Given the description of an element on the screen output the (x, y) to click on. 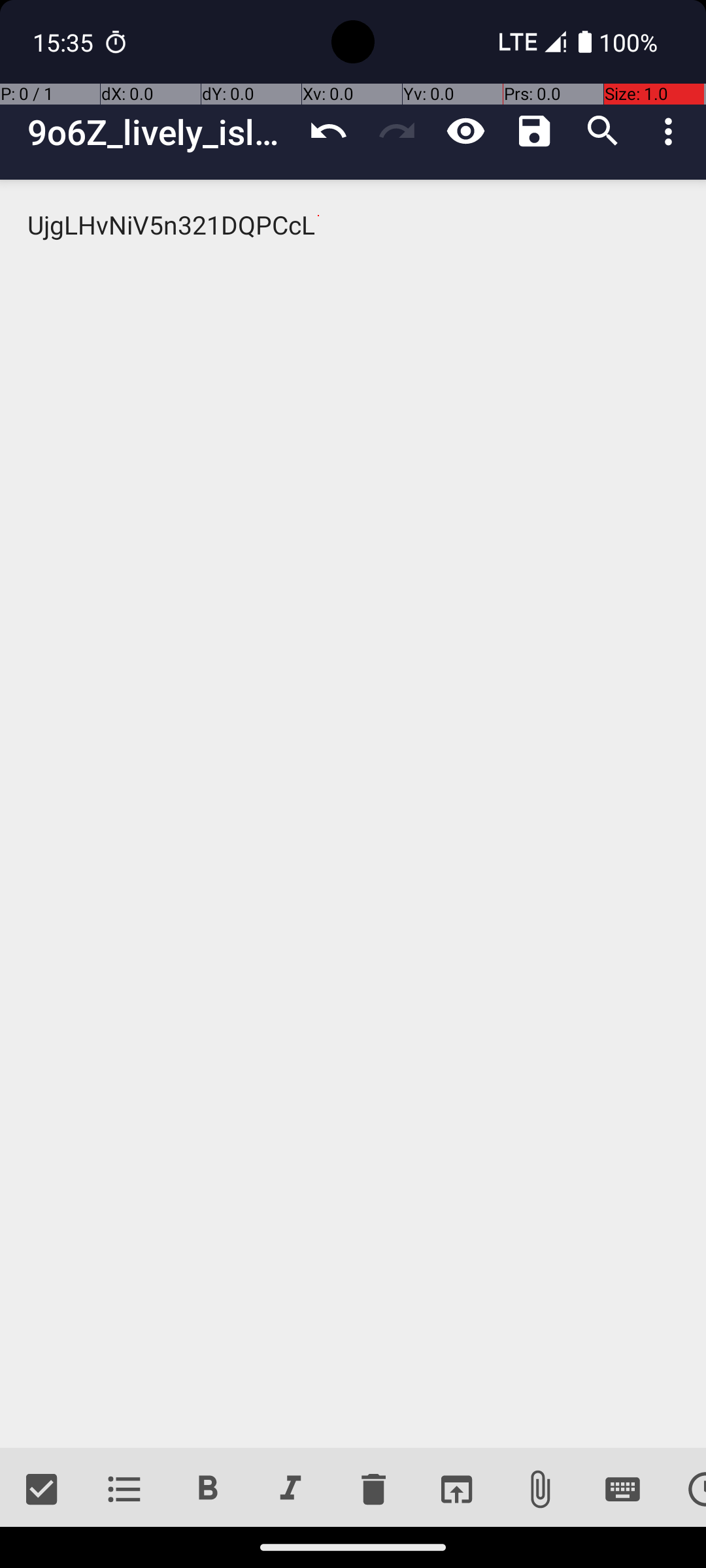
9o6Z_lively_island_edited Element type: android.widget.TextView (160, 131)
UjgLHvNiV5n321DQPCcL Element type: android.widget.EditText (353, 813)
